Given the description of an element on the screen output the (x, y) to click on. 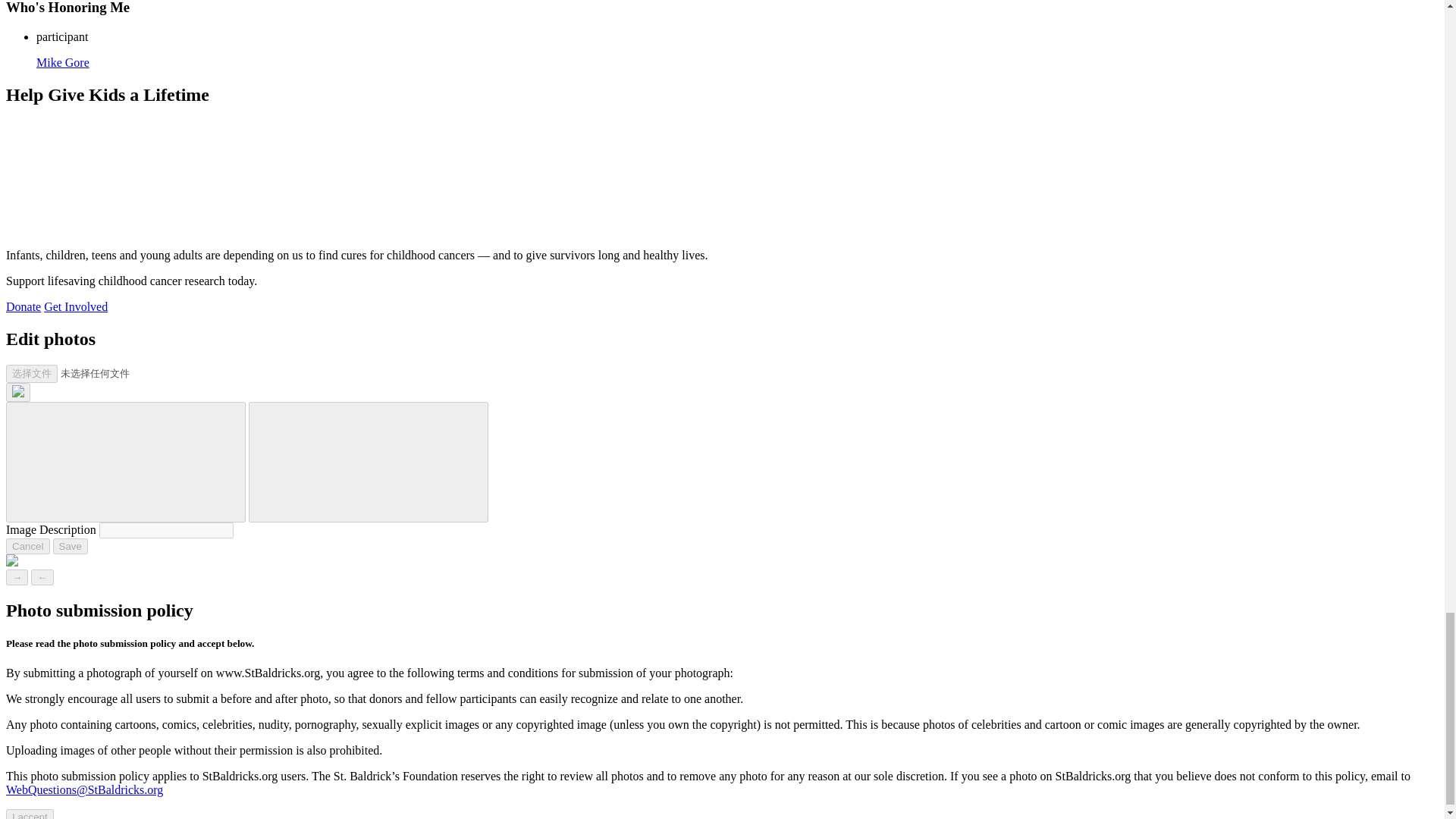
Donate (22, 306)
Get Involved (75, 306)
Cancel (27, 546)
Save (69, 546)
